Given the description of an element on the screen output the (x, y) to click on. 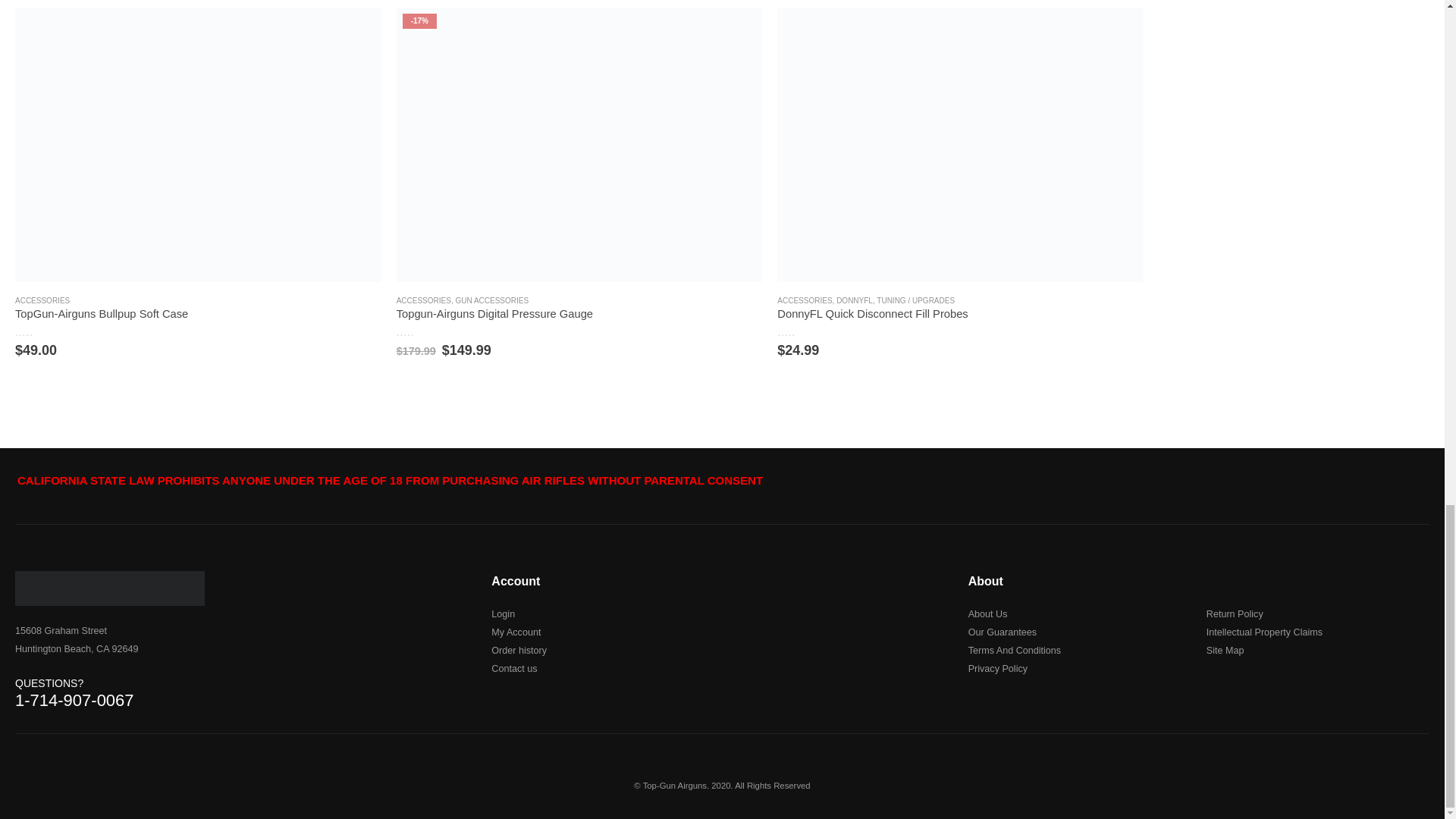
0 (802, 331)
0 (421, 331)
0 (39, 331)
